Given the description of an element on the screen output the (x, y) to click on. 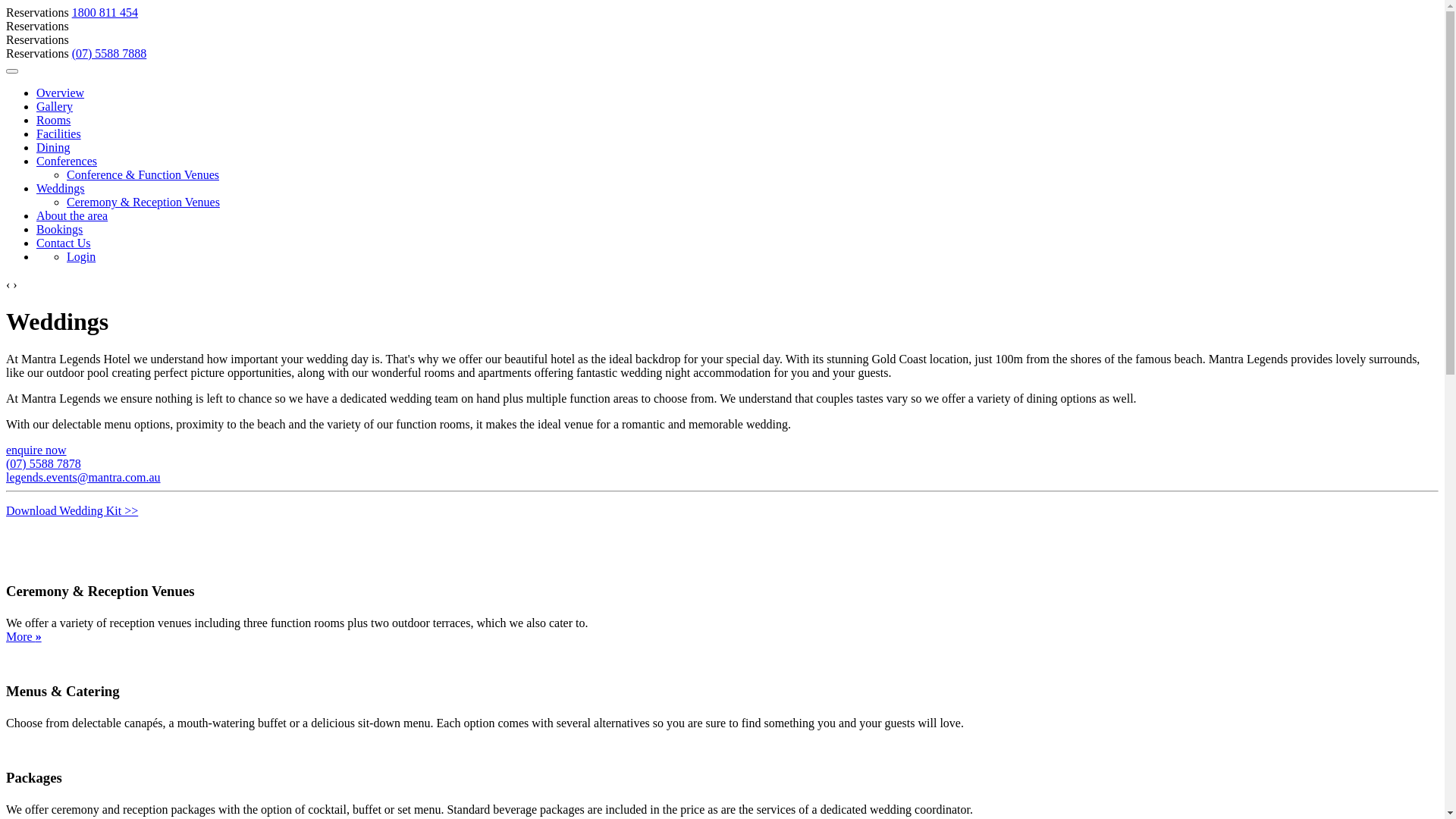
(07) 5588 7888 Element type: text (109, 53)
Facilities Element type: text (58, 133)
Ceremony & Reception Venues Element type: text (142, 201)
Bookings Element type: text (59, 228)
enquire now Element type: text (36, 449)
Rooms Element type: text (53, 119)
Weddings Element type: text (60, 188)
legends.events@mantra.com.au Element type: text (83, 476)
Contact Us Element type: text (63, 242)
Download Wedding Kit >> Element type: text (72, 510)
Login Element type: text (80, 256)
About the area Element type: text (71, 215)
Dining Element type: text (52, 147)
Overview Element type: text (60, 92)
1800 811 454 Element type: text (105, 12)
Gallery Element type: text (54, 106)
Conference & Function Venues Element type: text (142, 174)
(07) 5588 7878 Element type: text (43, 463)
Conferences Element type: text (66, 160)
